Given the description of an element on the screen output the (x, y) to click on. 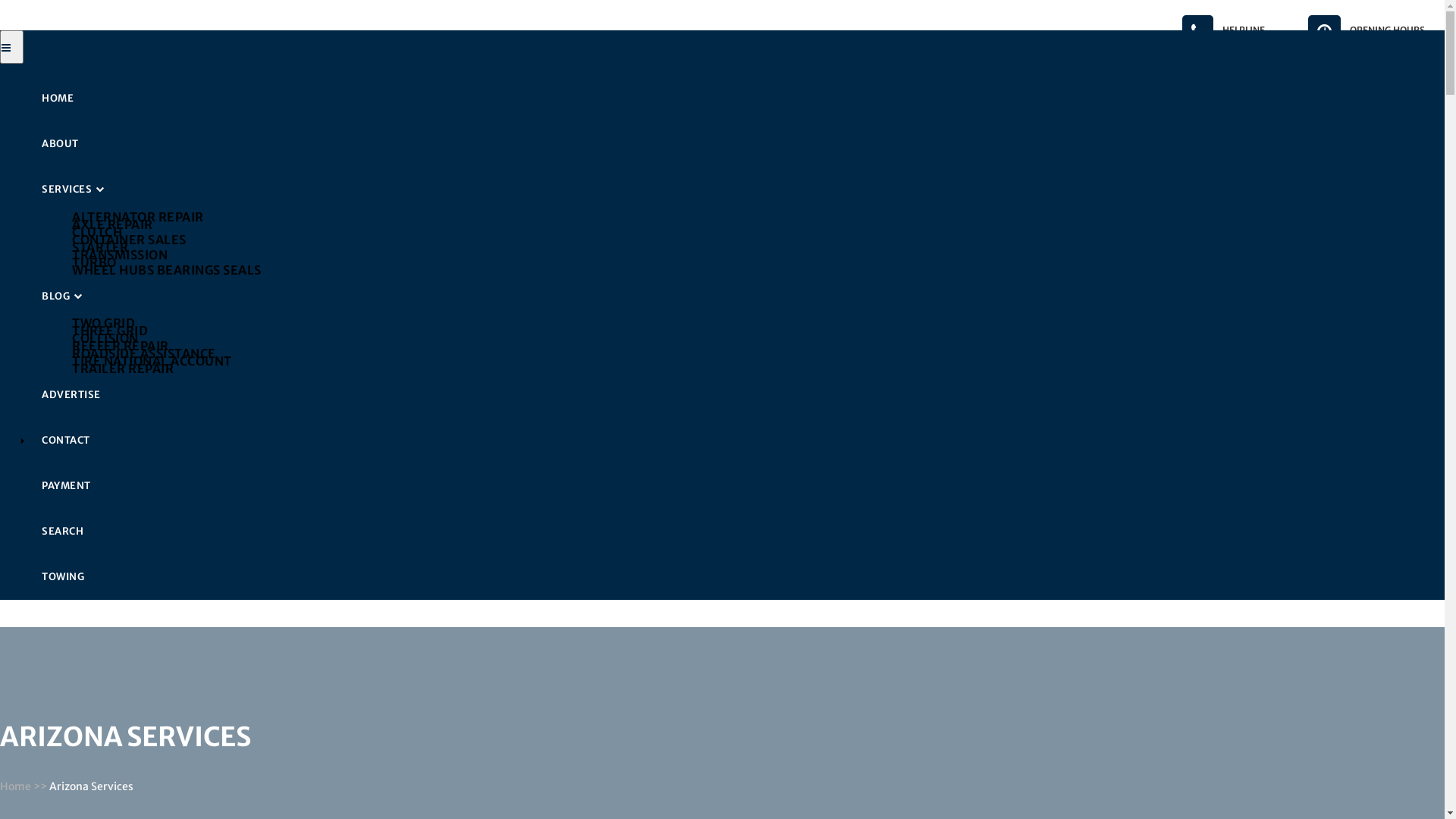
STARTER Element type: text (752, 246)
TWO GRID Element type: text (752, 322)
TOWING Element type: text (737, 576)
WHEEL HUBS BEARINGS SEALS Element type: text (752, 269)
SEARCH Element type: text (737, 531)
ROADSIDE ASSISTANCE Element type: text (752, 353)
Home >> Element type: text (23, 786)
BLOG Element type: text (737, 295)
ABOUT Element type: text (737, 143)
SERVICES Element type: text (737, 189)
ALTERNATOR REPAIR Element type: text (752, 215)
TRANSMISSION Element type: text (752, 253)
ADVERTISE Element type: text (737, 394)
THREE GRID Element type: text (752, 330)
Skip to main content Element type: text (0, 0)
CONTAINER SALES Element type: text (752, 238)
COLLISION Element type: text (752, 338)
CLUTCH Element type: text (752, 231)
AXLE REPAIR Element type: text (752, 223)
HOME Element type: text (737, 98)
TRAILER REPAIR Element type: text (752, 368)
REEFER REPAIR Element type: text (752, 345)
PAYMENT Element type: text (737, 485)
CONTACT Element type: text (737, 440)
TIRE NATIONAL ACCOUNT Element type: text (752, 360)
TURBO Element type: text (752, 261)
